Given the description of an element on the screen output the (x, y) to click on. 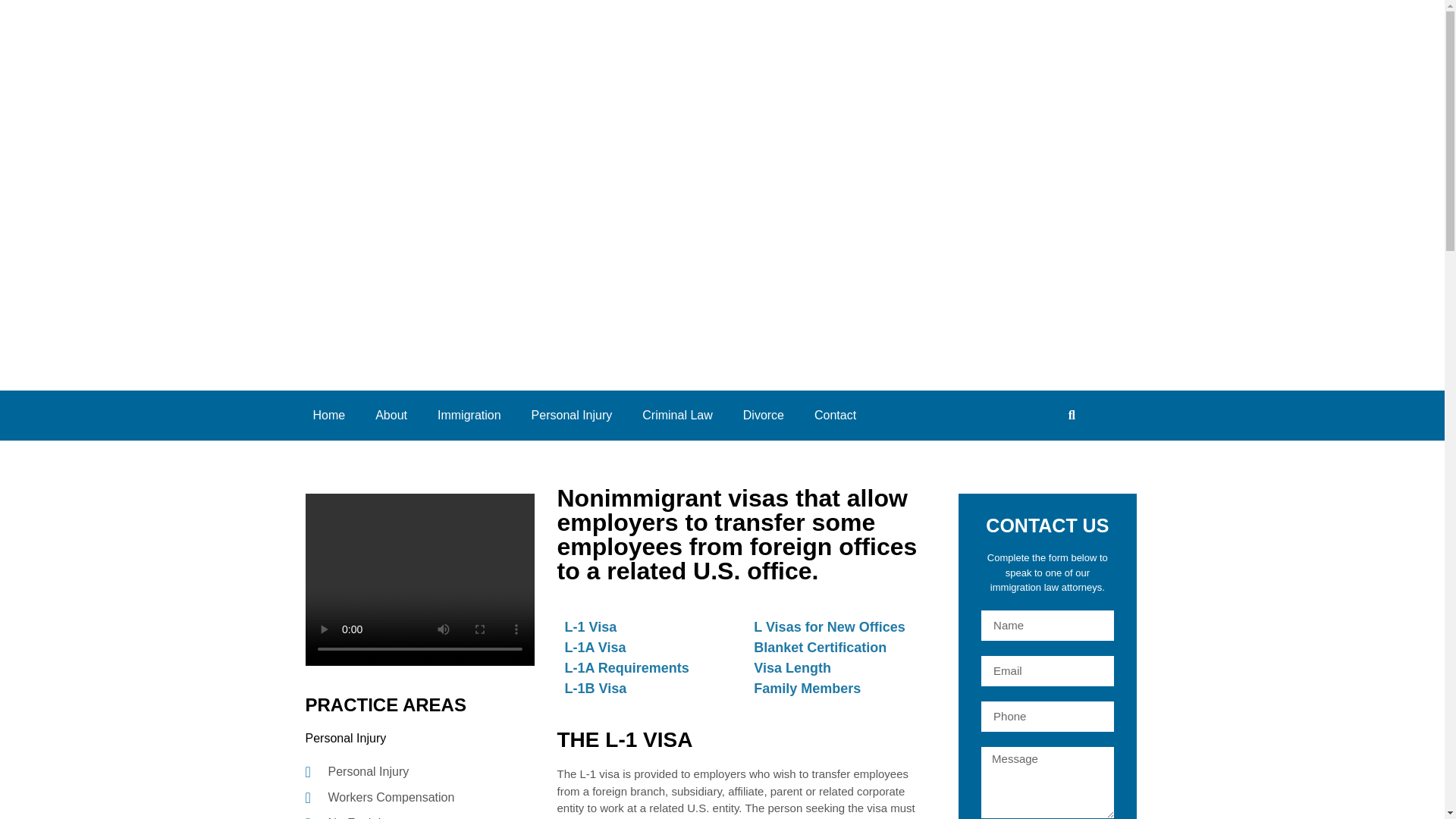
Home (328, 415)
About (390, 415)
Immigration (469, 415)
